Given the description of an element on the screen output the (x, y) to click on. 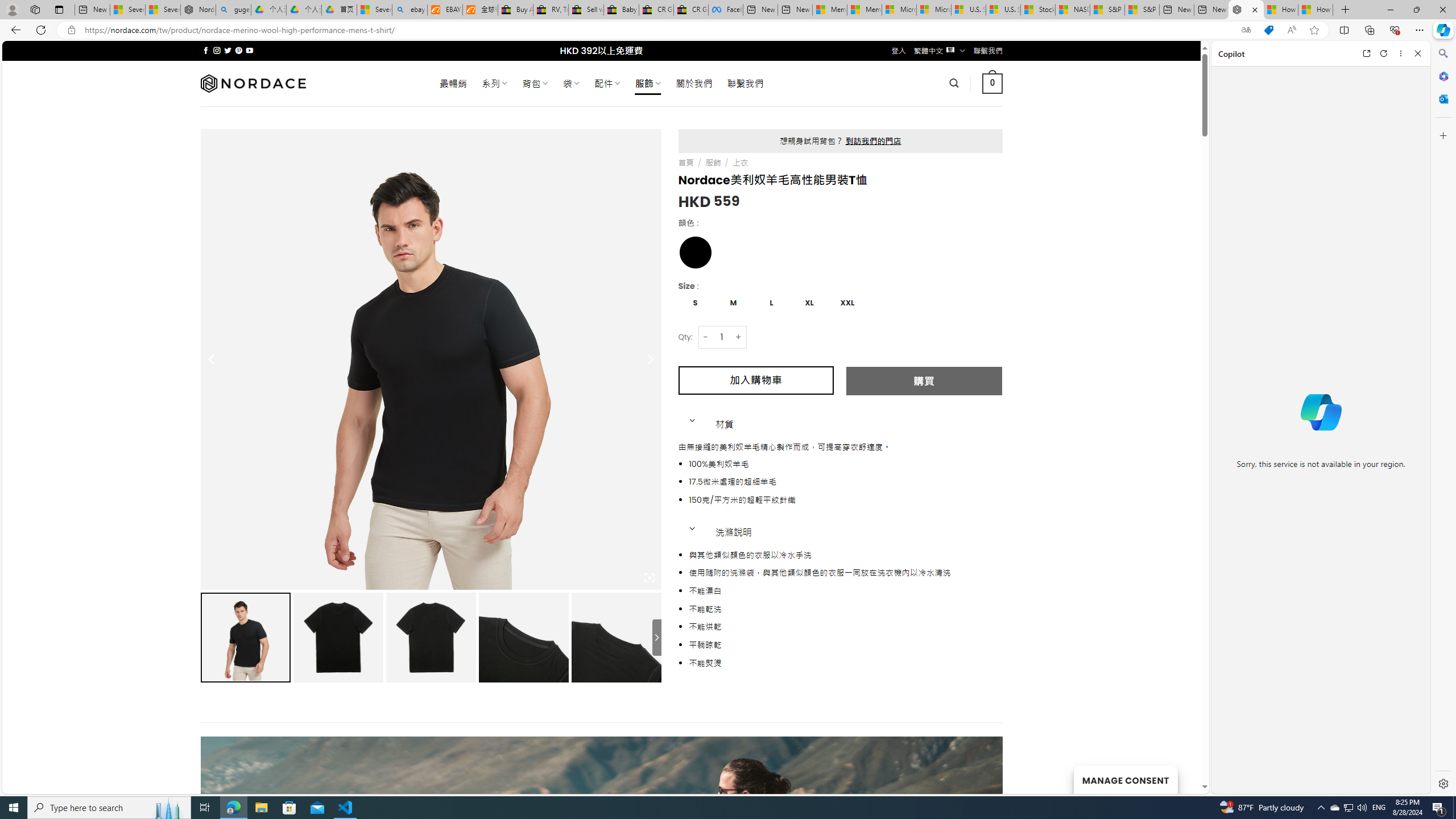
ebay - Search (409, 9)
Settings (1442, 783)
